Given the description of an element on the screen output the (x, y) to click on. 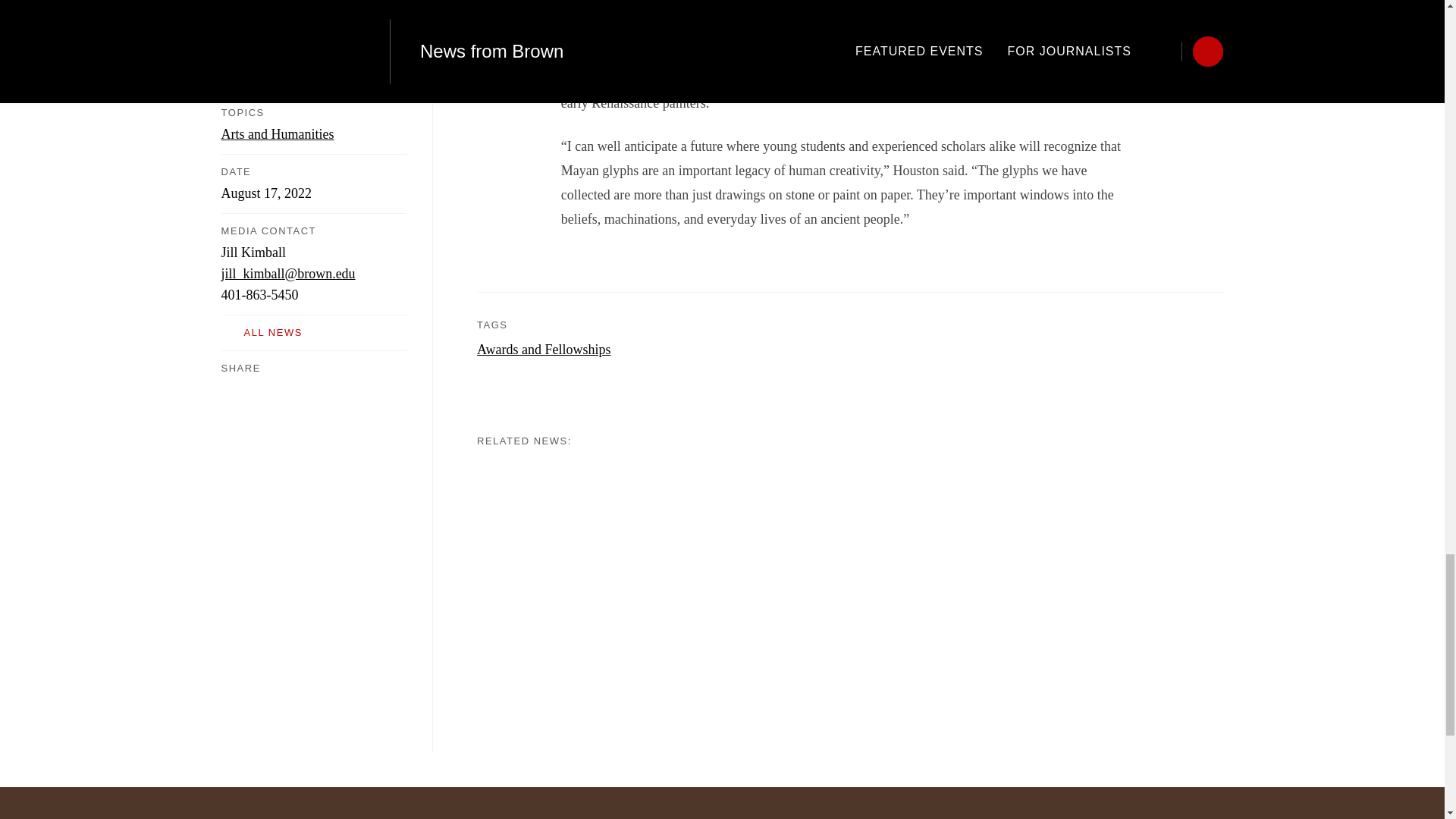
Awards and Fellowships (543, 349)
